Given the description of an element on the screen output the (x, y) to click on. 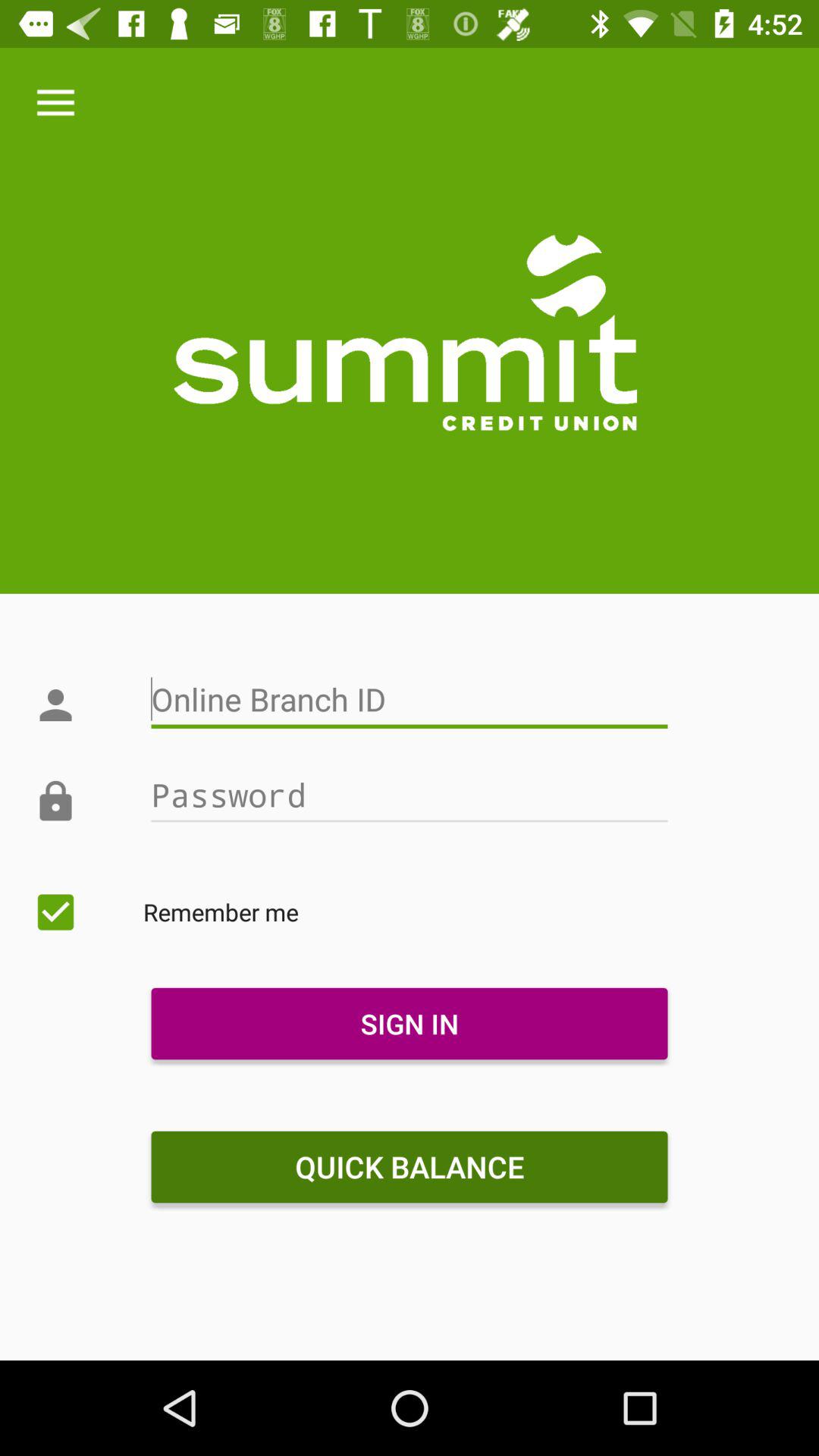
choose the icon below remember me item (409, 1023)
